Given the description of an element on the screen output the (x, y) to click on. 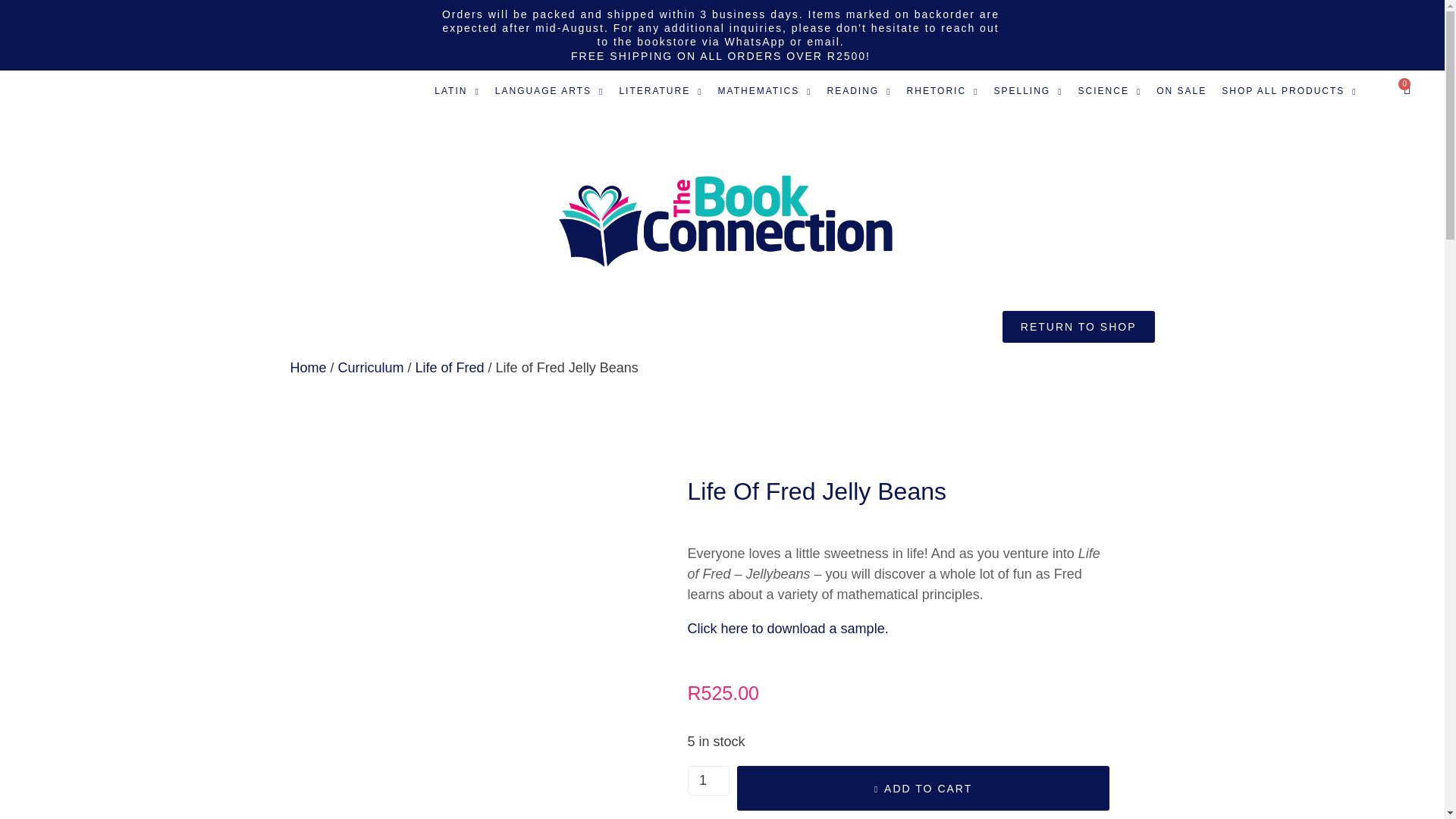
LATIN (456, 91)
LITERATURE (660, 91)
LANGUAGE ARTS (549, 91)
1 (708, 780)
